Given the description of an element on the screen output the (x, y) to click on. 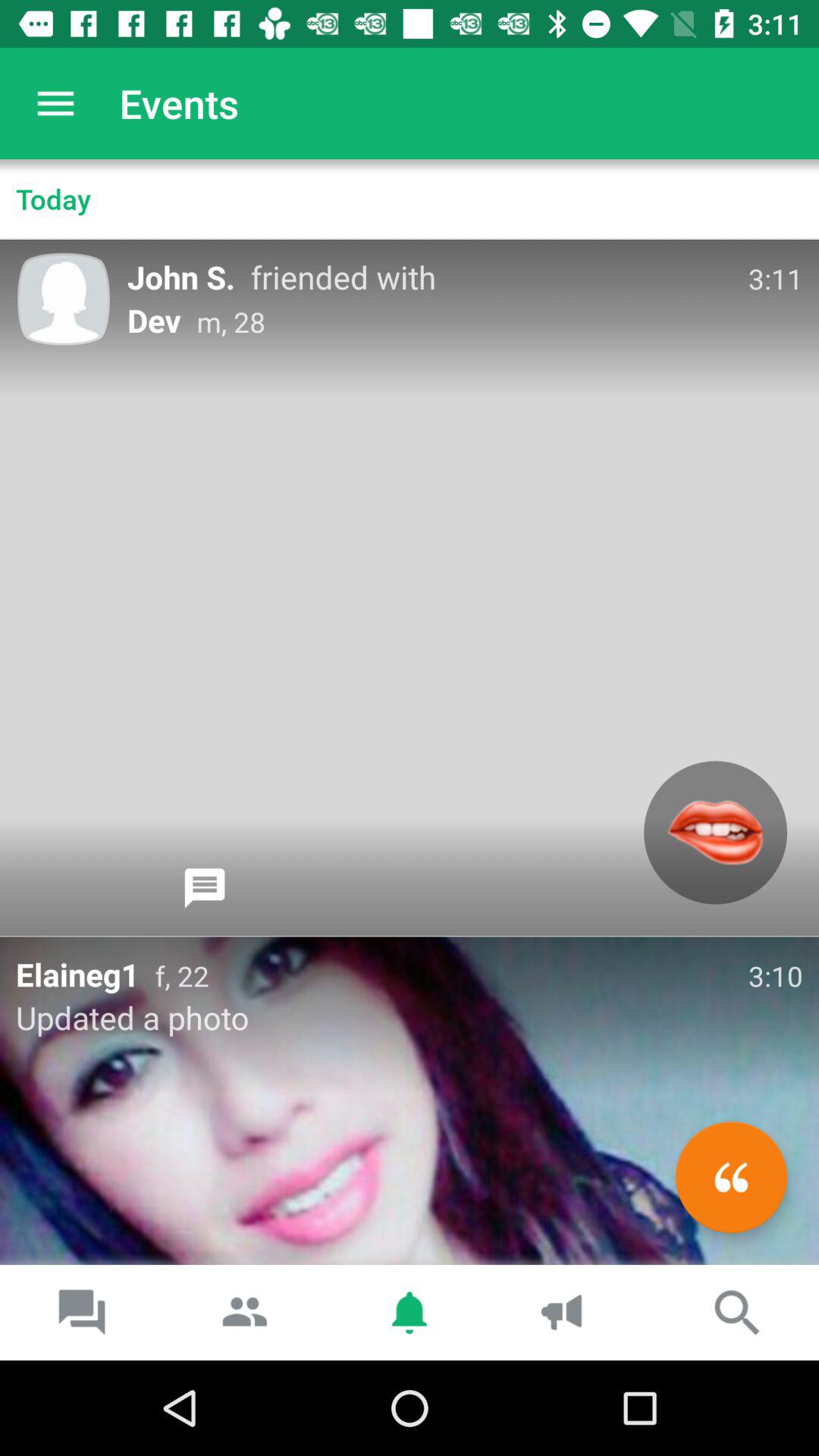
turn on the item above the today (55, 103)
